Given the description of an element on the screen output the (x, y) to click on. 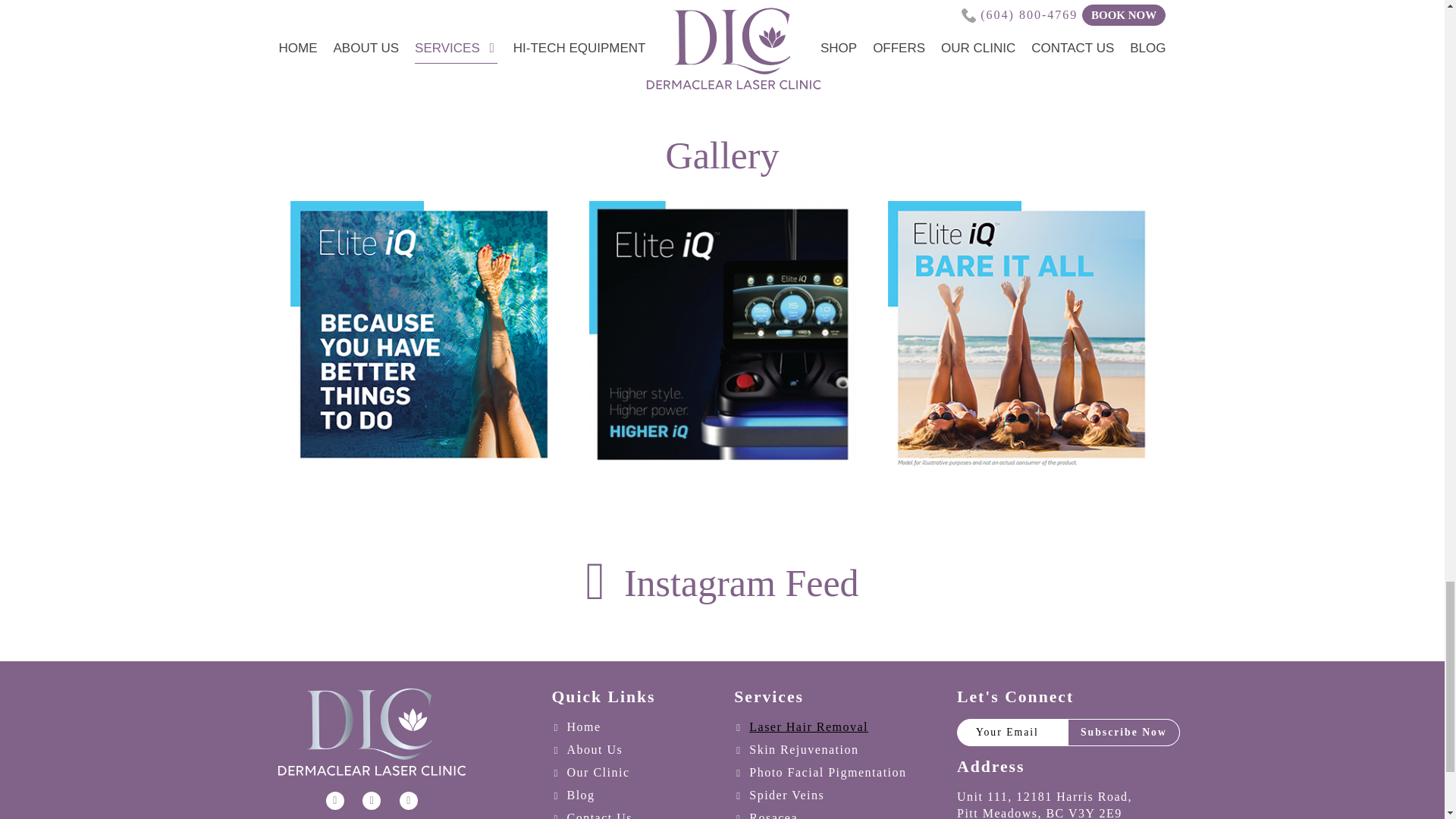
EXPERIENCED TECHNICIANS (722, 47)
STATE OF THE ART LASER MACHINES (351, 47)
PROVEN RESULTS (1095, 47)
Subscribe Now (1123, 732)
